Given the description of an element on the screen output the (x, y) to click on. 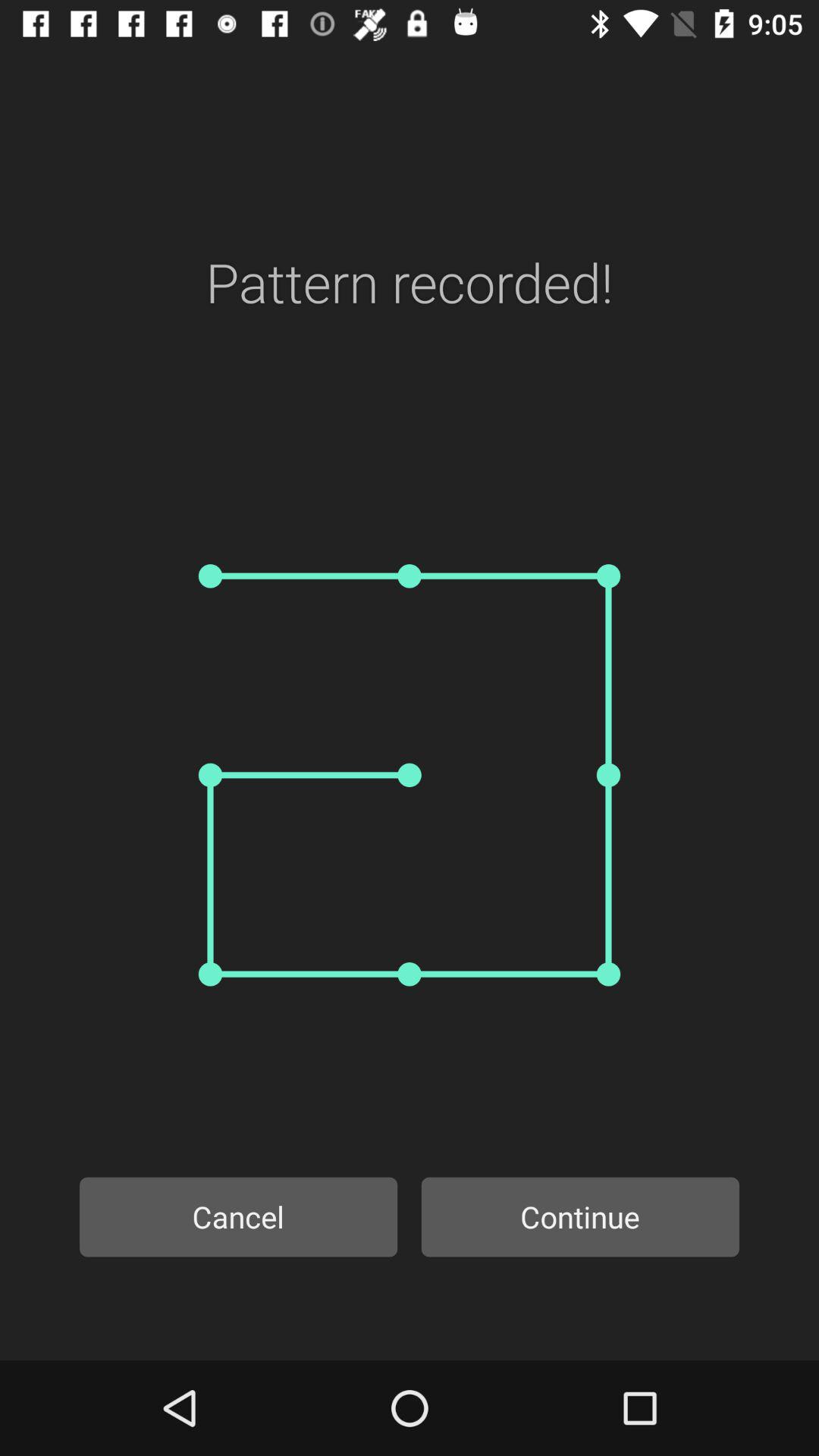
turn off item to the left of the continue item (238, 1216)
